Given the description of an element on the screen output the (x, y) to click on. 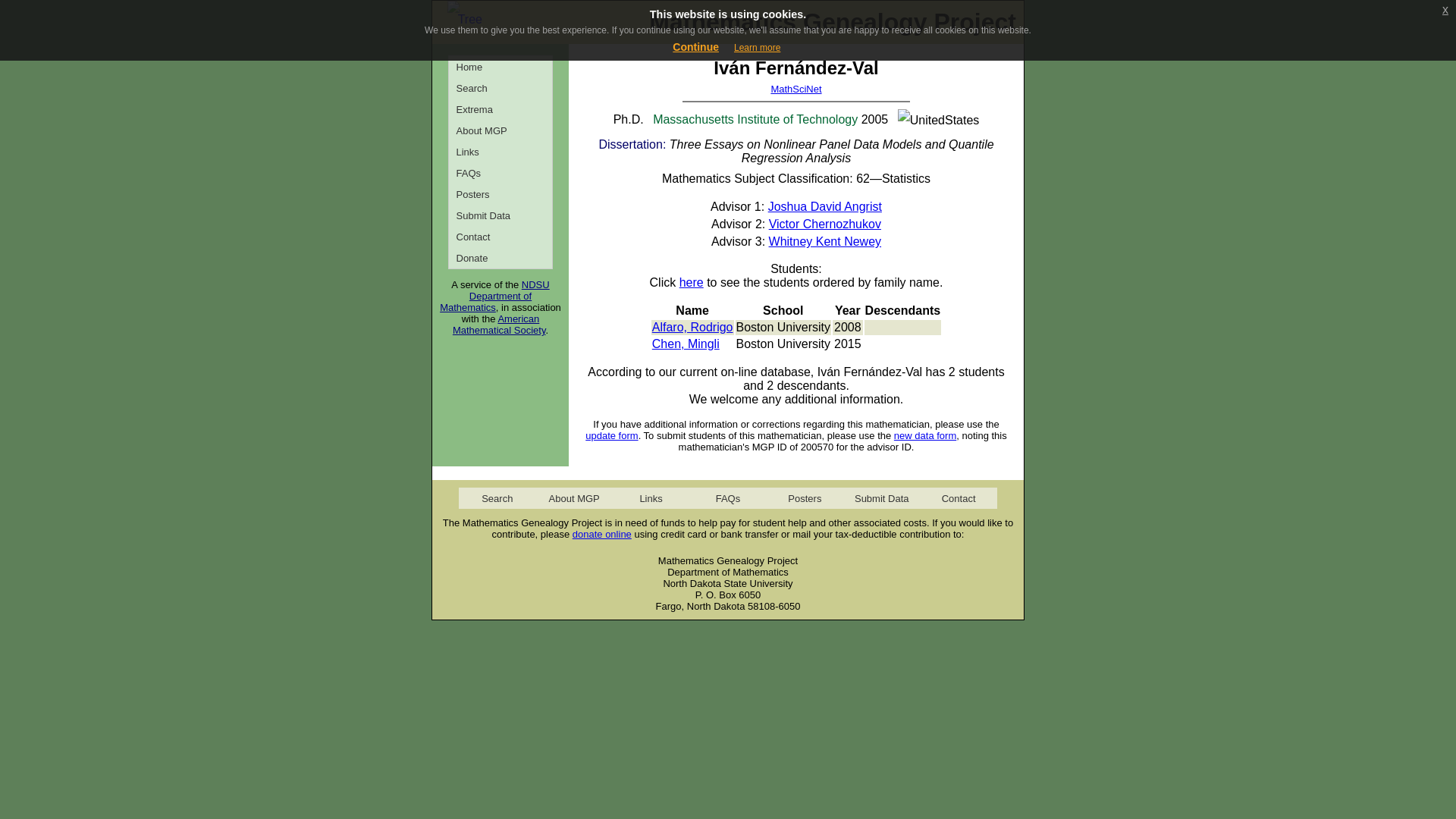
Frequently Asked Questions (726, 497)
here (691, 282)
Extrema (500, 108)
Donate (500, 257)
Chen, Mingli (685, 343)
MathSciNet (795, 89)
Victor Chernozhukov (824, 223)
About MGP (500, 129)
Department of Mathematics (485, 301)
American Mathematical Society (499, 323)
